Given the description of an element on the screen output the (x, y) to click on. 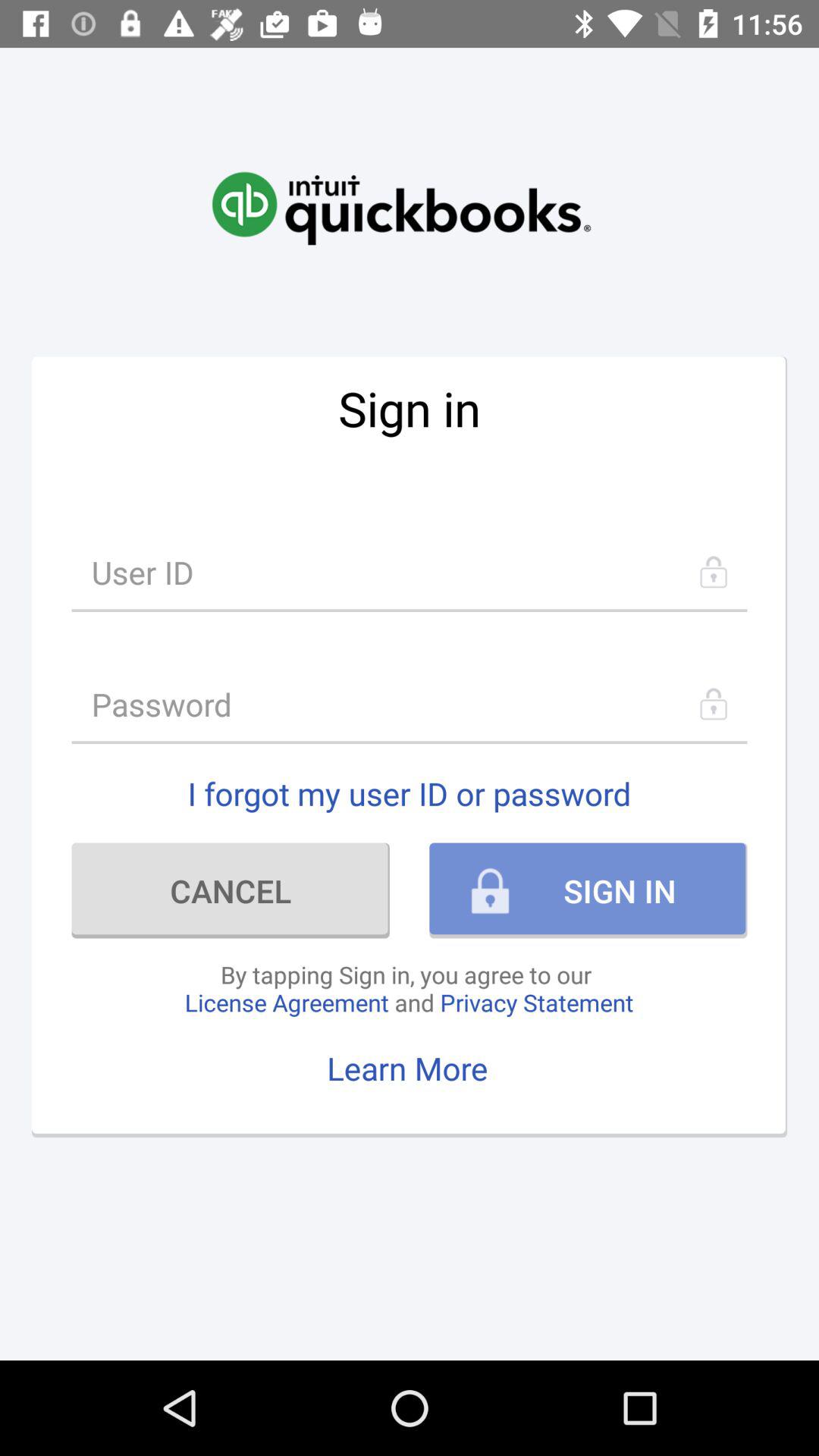
swipe until the cancel item (230, 890)
